Given the description of an element on the screen output the (x, y) to click on. 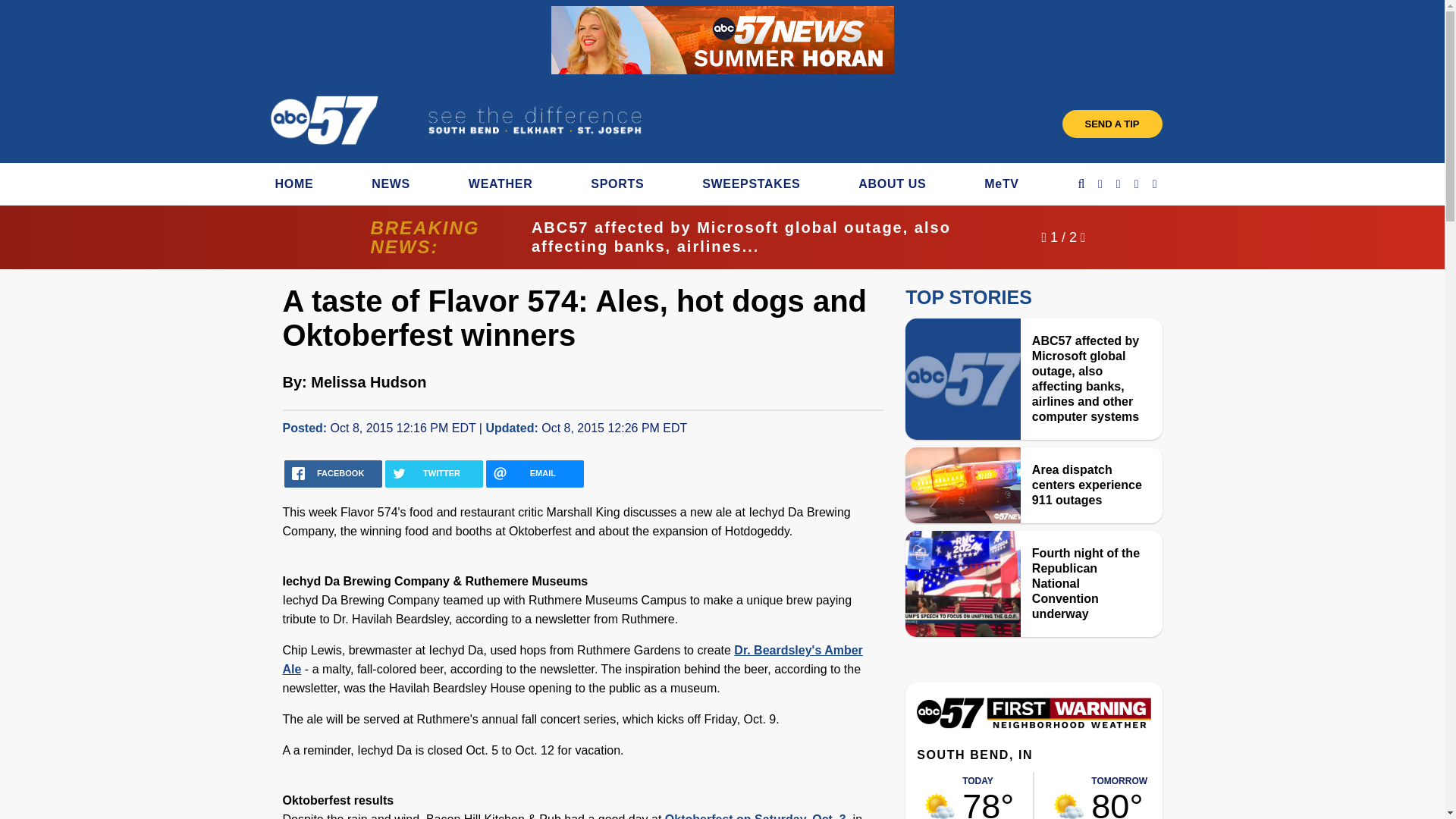
weather (989, 795)
weather (939, 805)
weather (1067, 805)
Weather (1033, 724)
weather (1118, 795)
